Given the description of an element on the screen output the (x, y) to click on. 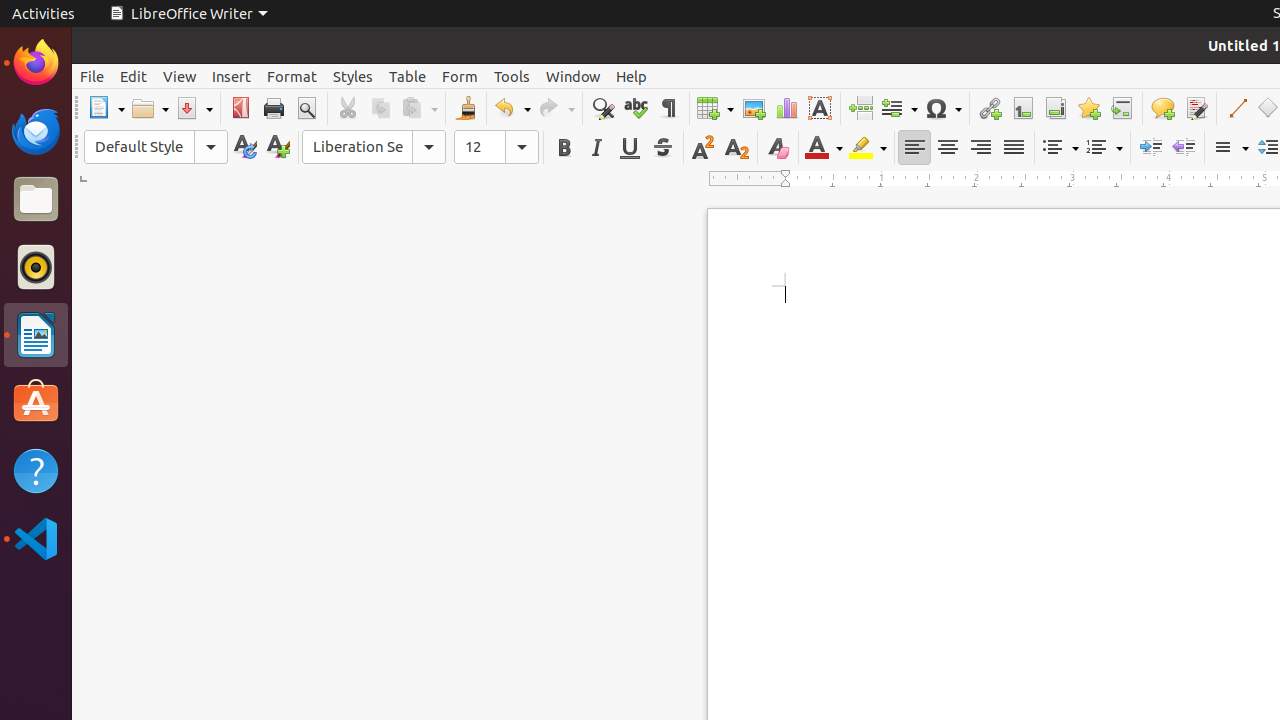
Form Element type: menu (460, 76)
Page Break Element type: push-button (860, 108)
Edit Element type: menu (133, 76)
Right Element type: toggle-button (980, 147)
PDF Element type: push-button (240, 108)
